Given the description of an element on the screen output the (x, y) to click on. 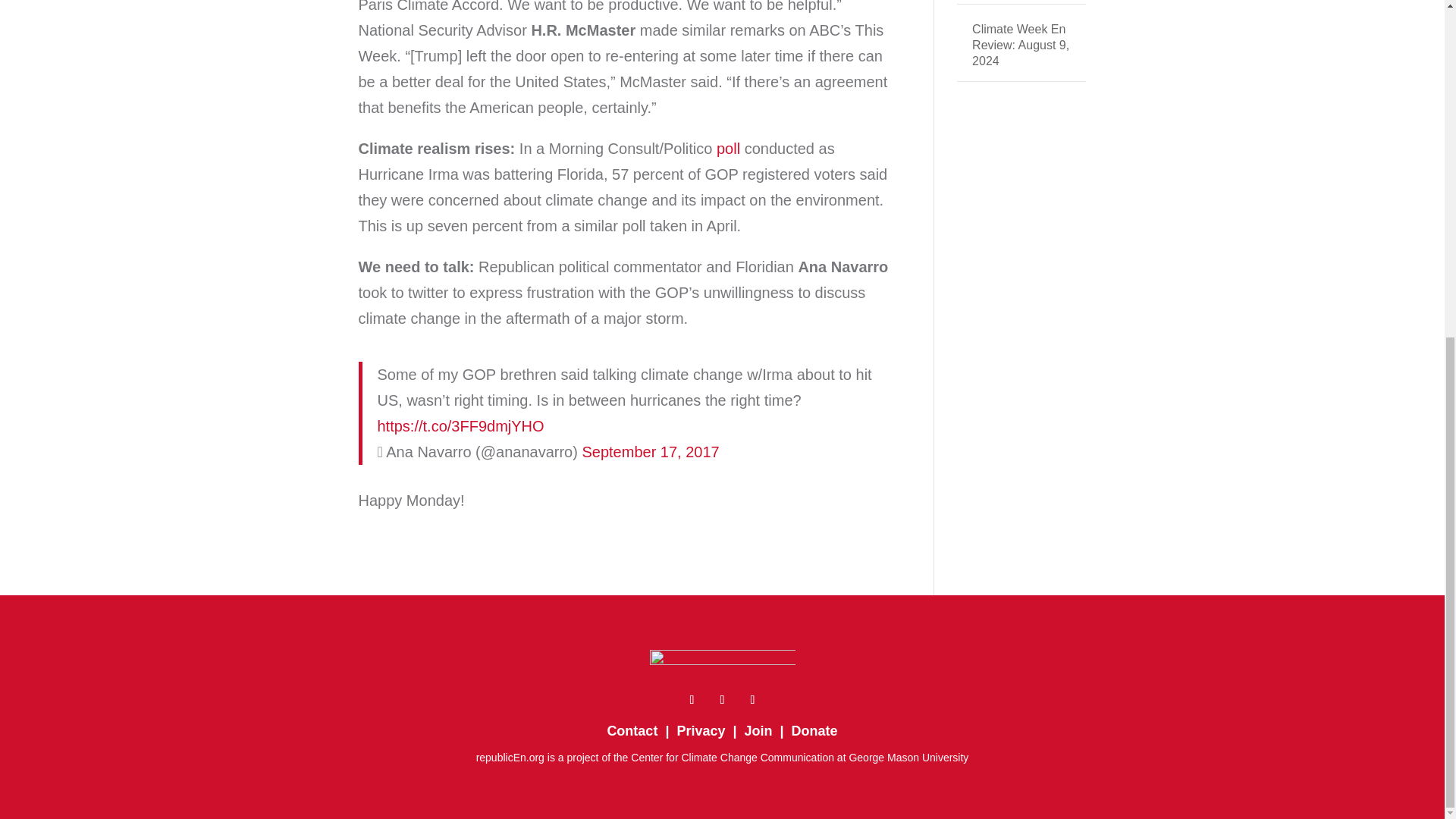
September 17, 2017 (649, 451)
Contact (632, 730)
Follow on Instagram (751, 699)
Follow on Facebook (691, 699)
poll (727, 148)
Follow on Twitter (721, 699)
Climate Week En Review: August 9, 2024 (1020, 44)
